Given the description of an element on the screen output the (x, y) to click on. 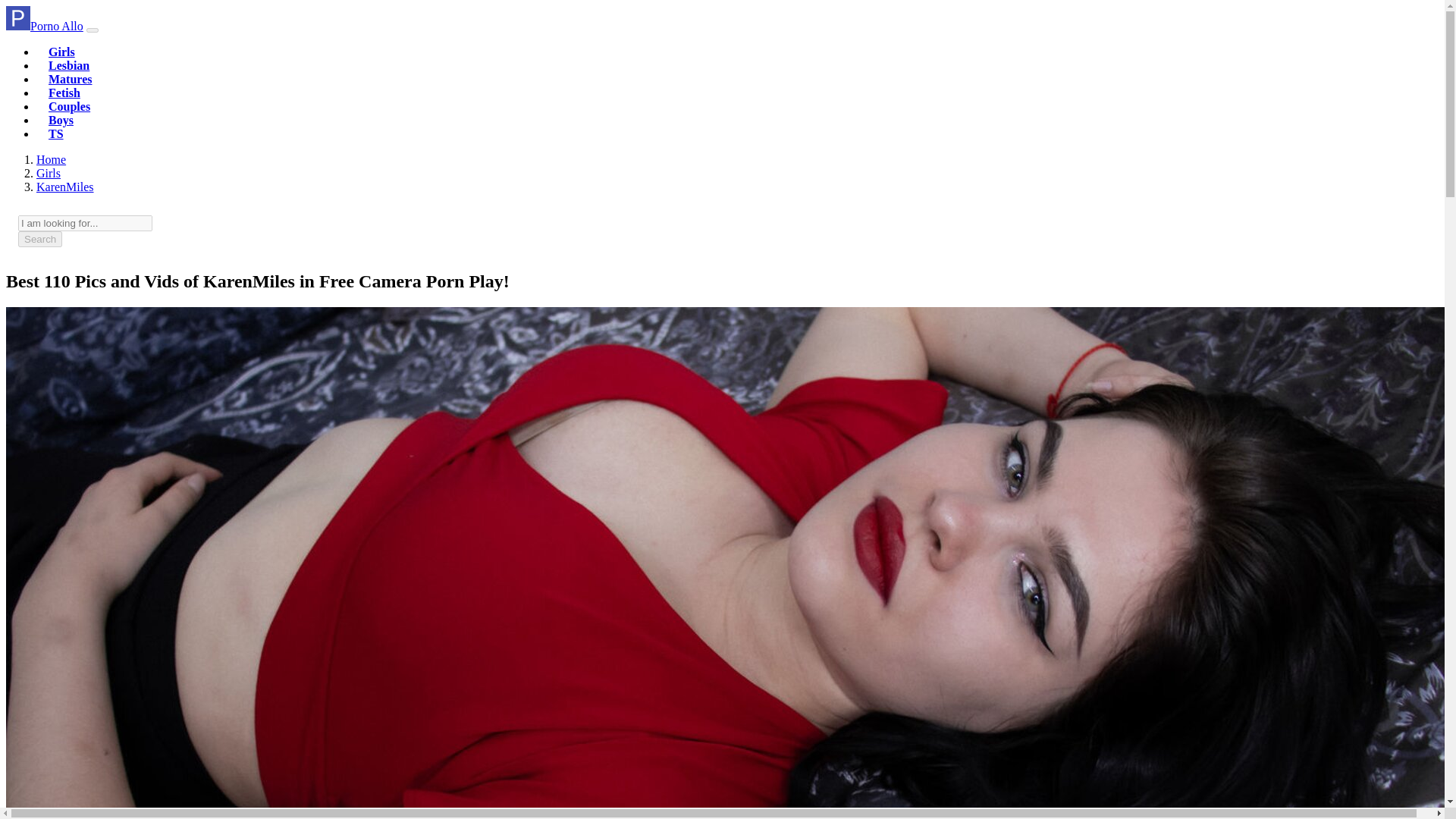
Girls (61, 51)
Porno Allo (43, 25)
Lesbian (68, 65)
Girls (61, 51)
Porno Allo (50, 159)
Couples (69, 106)
Couples (69, 106)
Matures (69, 78)
TS (56, 133)
TS (56, 133)
Matures (69, 78)
Fetish (64, 92)
Lesbian (68, 65)
Girls (48, 173)
